Given the description of an element on the screen output the (x, y) to click on. 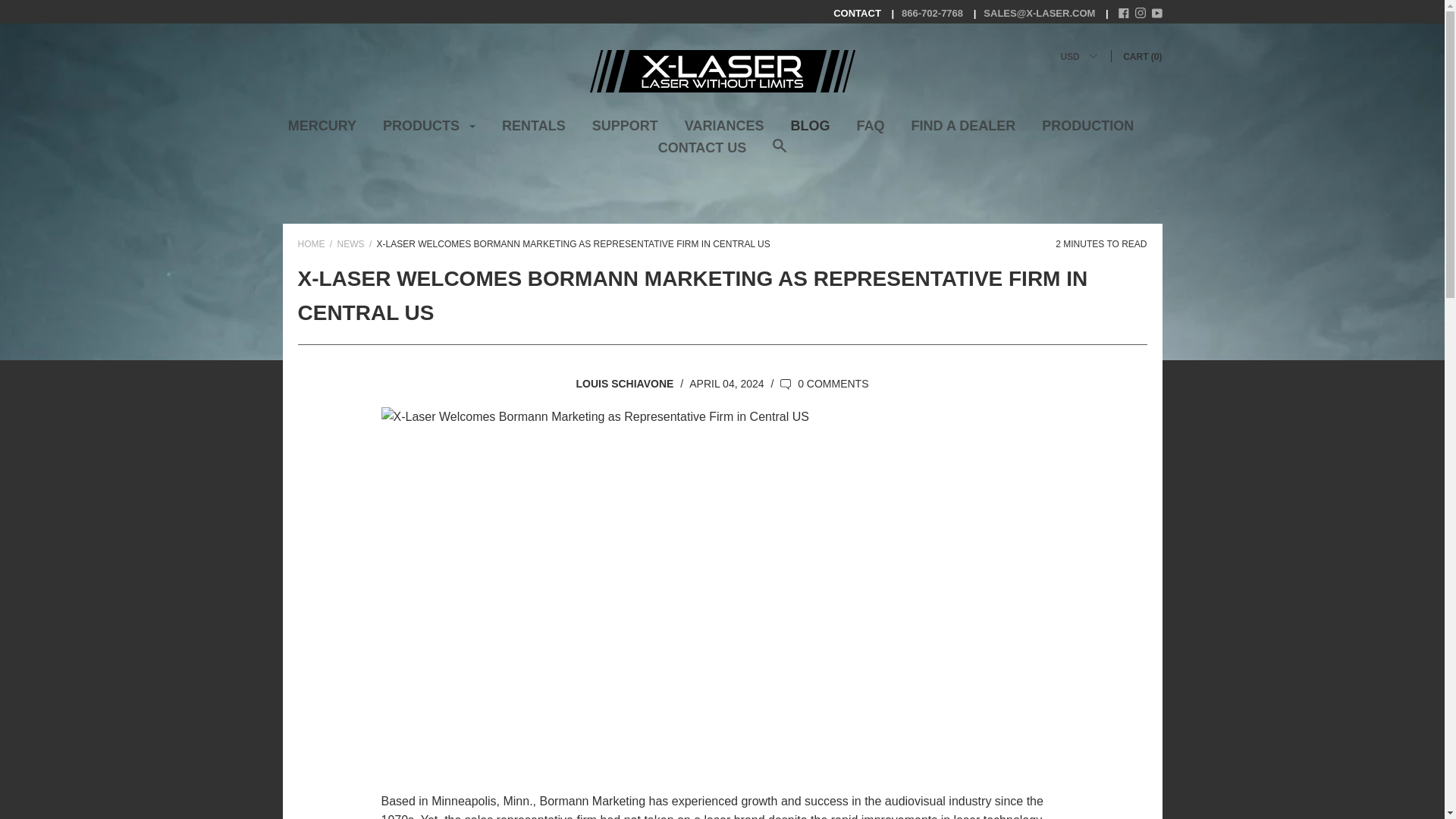
MERCURY (322, 130)
YouTube (1156, 12)
YouTube (1156, 14)
Instagram (1140, 14)
Instagram (1140, 12)
Facebook (1123, 12)
PRODUCTS (429, 130)
Search (779, 153)
Facebook (1123, 14)
